Given the description of an element on the screen output the (x, y) to click on. 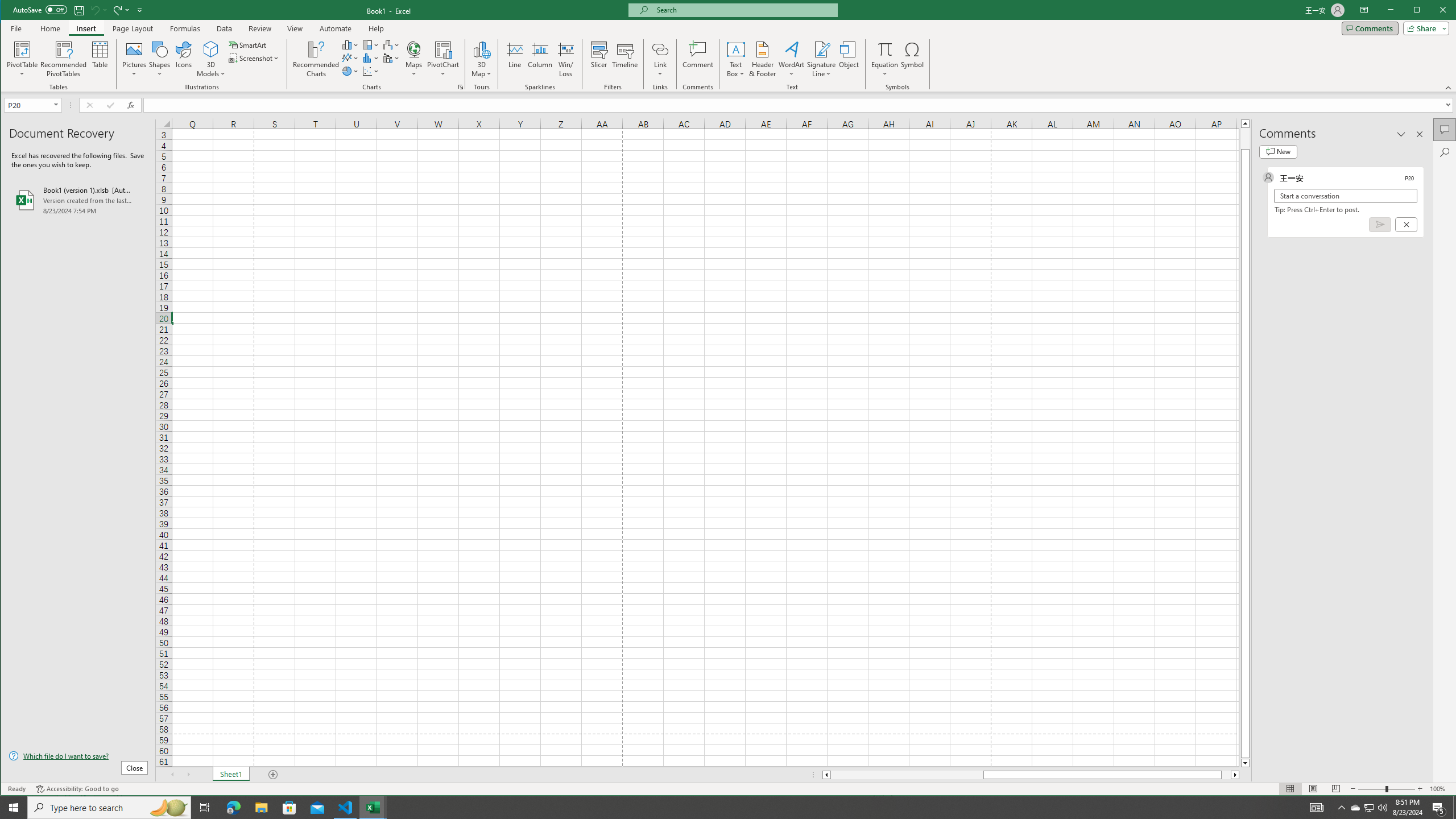
Text Box (735, 59)
Insert Scatter (X, Y) or Bubble Chart (371, 70)
Insert Statistic Chart (371, 57)
Line (514, 59)
